Given the description of an element on the screen output the (x, y) to click on. 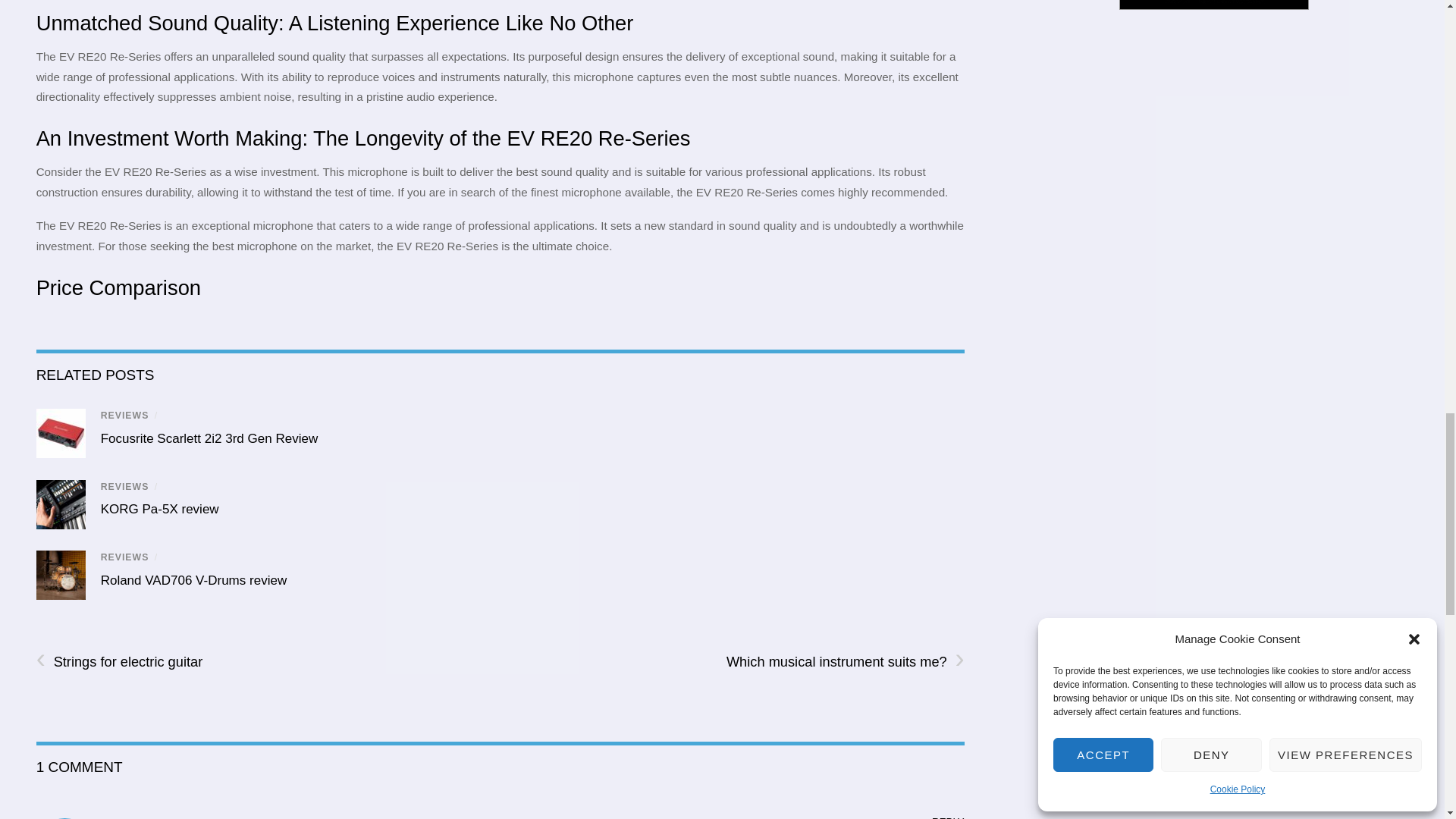
Focusrite Scarlett 2i2 3rd Gen Review (209, 438)
REVIEWS (124, 557)
KORG Pa-5X review (159, 509)
Roland VAD706 V-Drums review (193, 580)
REVIEWS (124, 415)
Focusrite-Scarlett-2i2-3rd-Gen-Review (60, 432)
REPLY (947, 817)
KORG Pa-5X review (159, 509)
Focusrite Scarlett 2i2 3rd Gen Review (209, 438)
Roland VAD706 V-Drums review (193, 580)
